Given the description of an element on the screen output the (x, y) to click on. 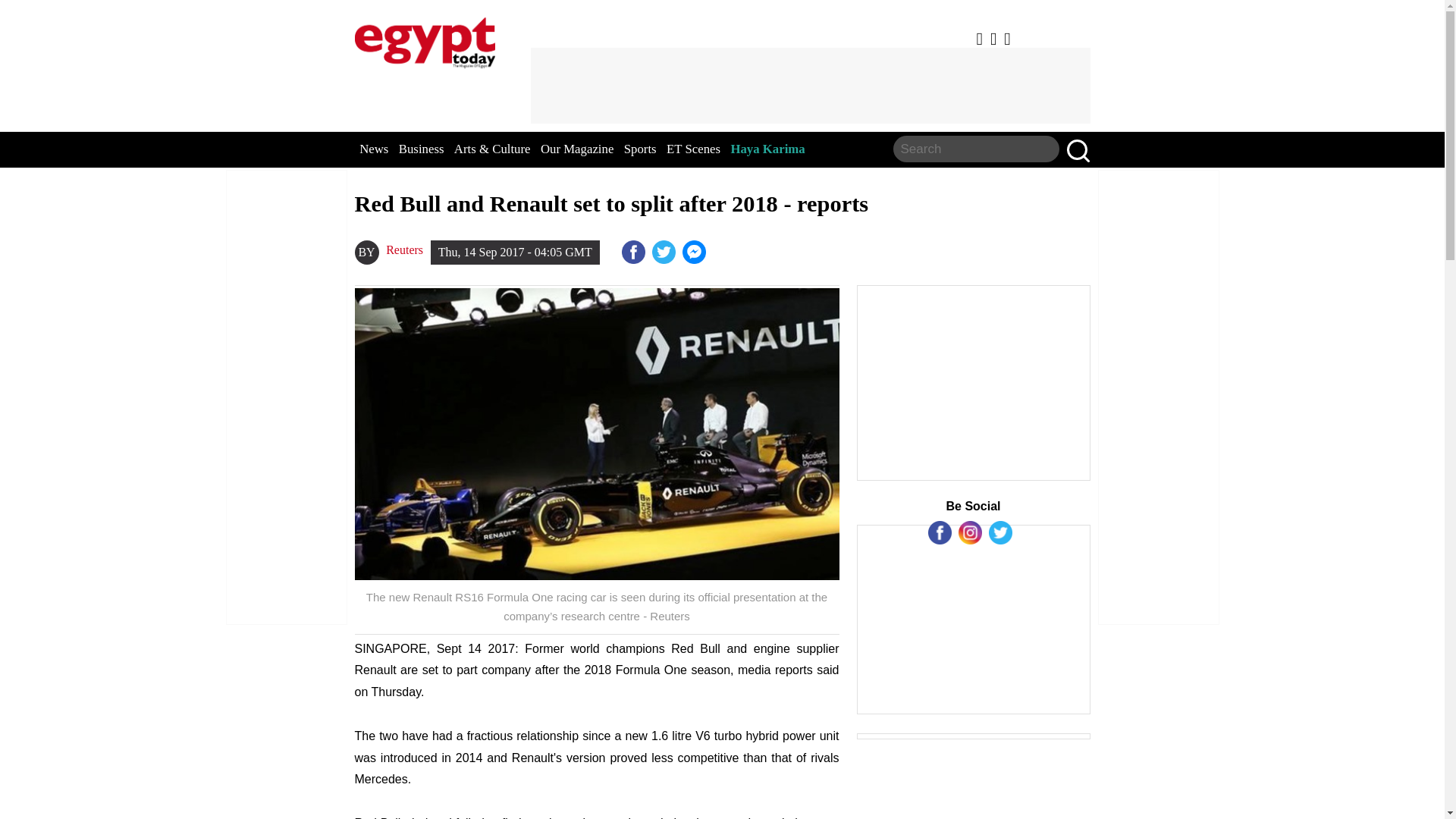
EgyptToday (425, 39)
Our Magazine (576, 149)
ET Scenes (693, 149)
Business (421, 149)
Haya Karima (767, 149)
Sisi heads to Guinea first destination in overseas tour (695, 251)
Sports (640, 149)
Reuters (404, 250)
